Given the description of an element on the screen output the (x, y) to click on. 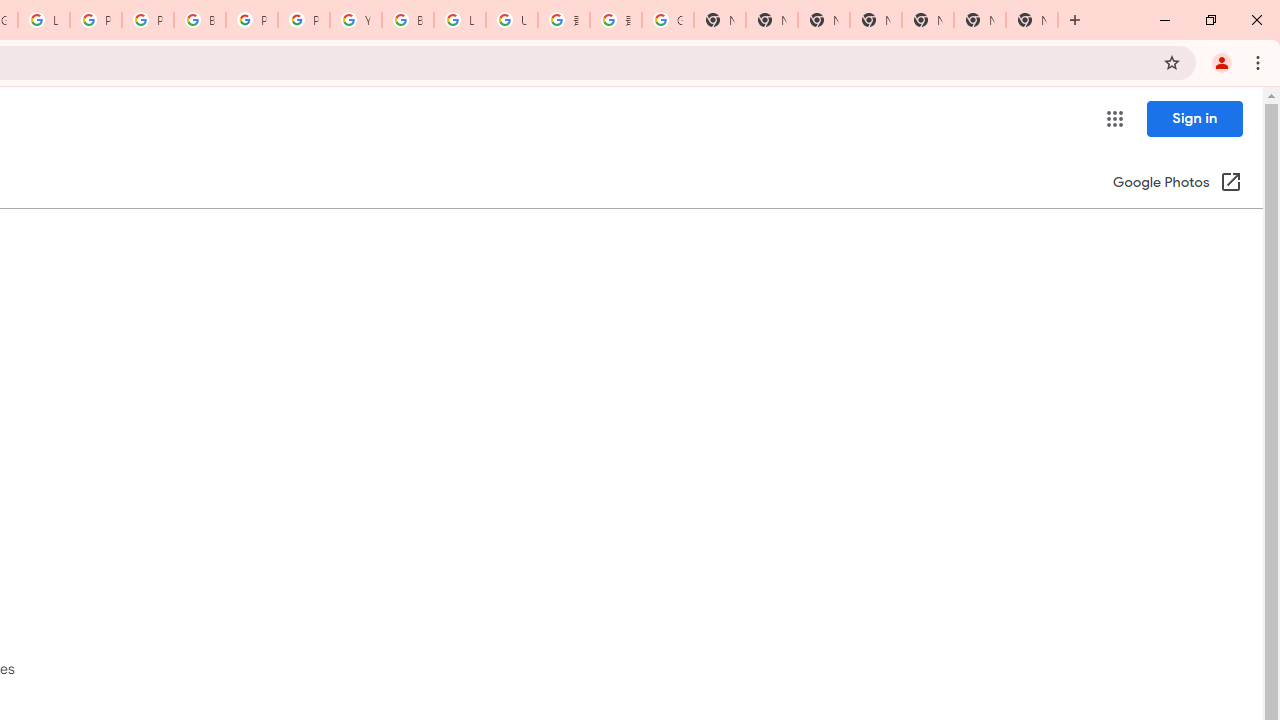
Google Images (667, 20)
Privacy Help Center - Policies Help (147, 20)
New Tab (875, 20)
